Given the description of an element on the screen output the (x, y) to click on. 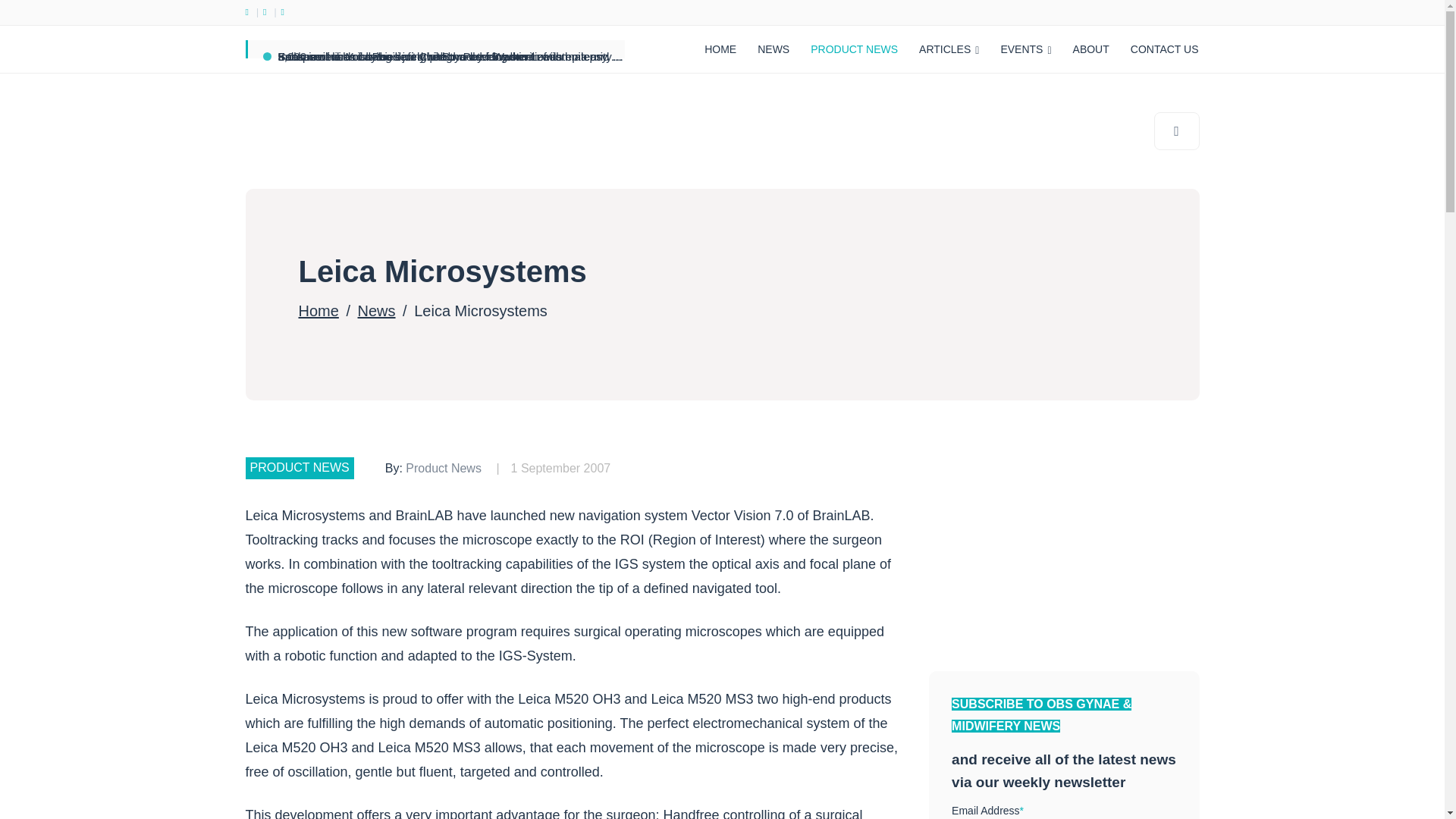
NEWS (772, 49)
CONTACT US (1164, 49)
PRODUCT NEWS (853, 49)
News (377, 310)
Home (318, 310)
EVENTS (1025, 49)
ARTICLES (949, 49)
Book review: Your Resilient Child by Peter Walker (402, 56)
ABOUT (1090, 49)
